Given the description of an element on the screen output the (x, y) to click on. 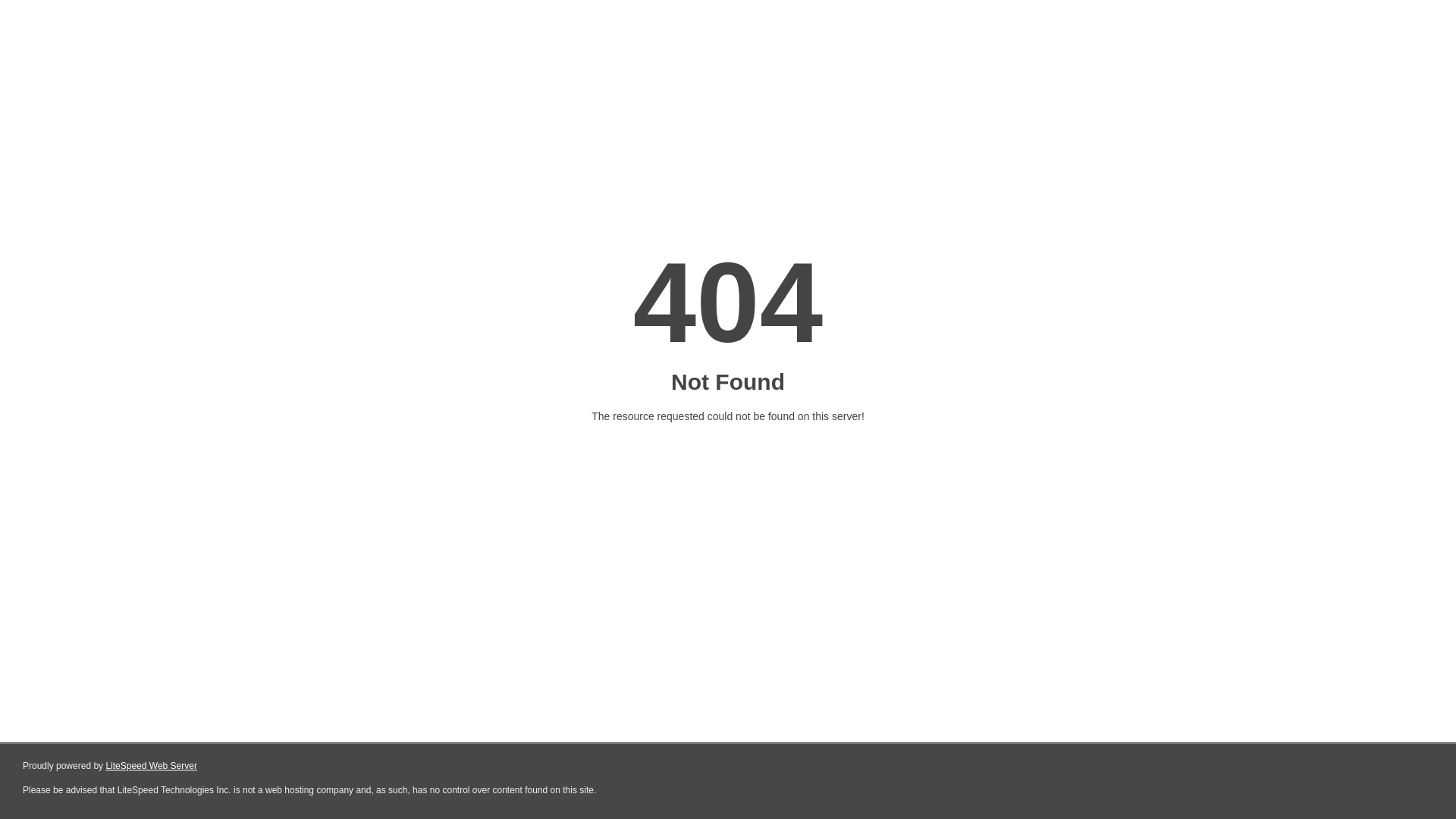
LiteSpeed Web Server Element type: text (151, 765)
